Given the description of an element on the screen output the (x, y) to click on. 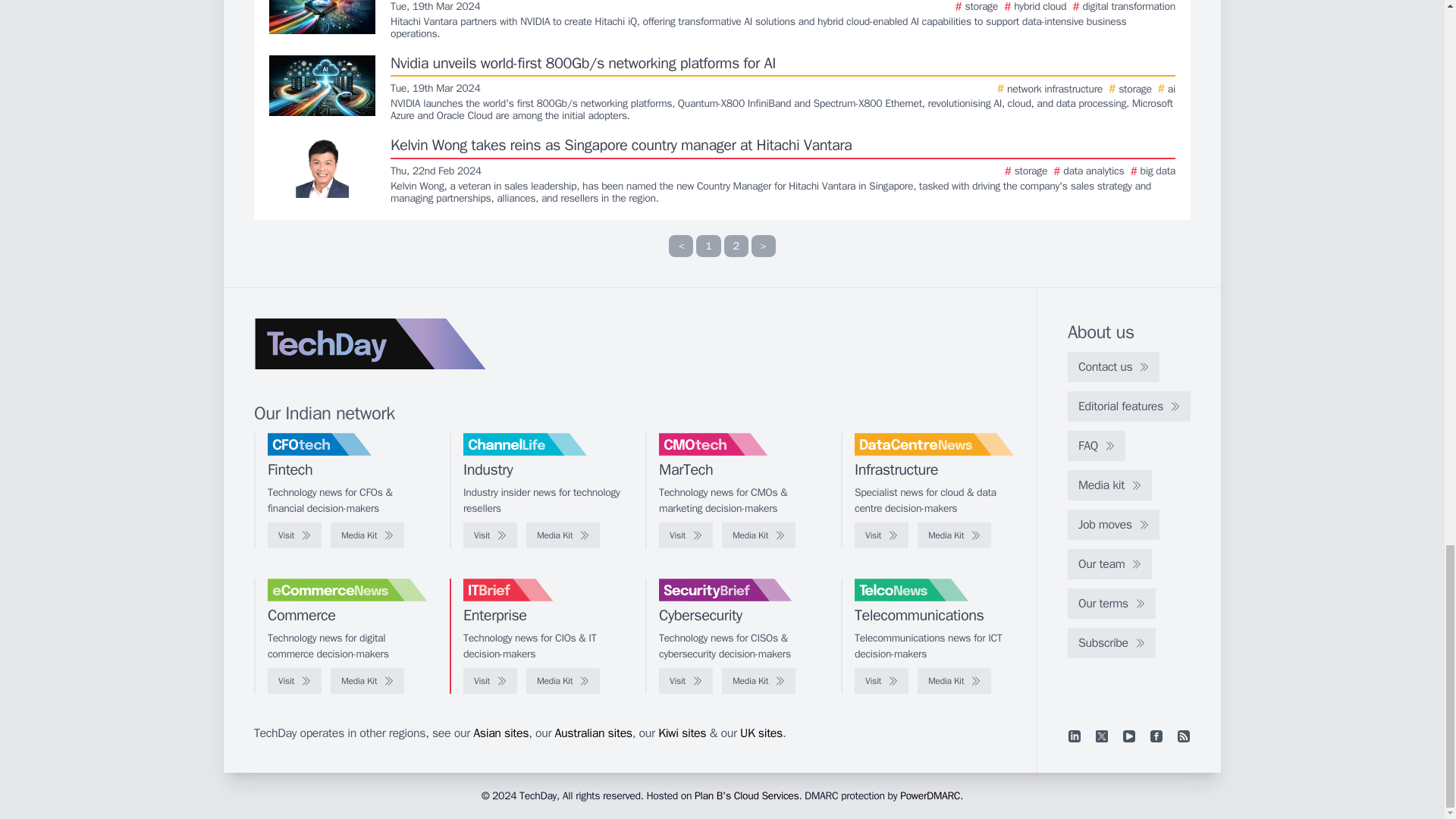
1 (707, 246)
Visit (489, 534)
Media Kit (562, 534)
2 (735, 246)
Visit (294, 534)
Media Kit (367, 534)
